Given the description of an element on the screen output the (x, y) to click on. 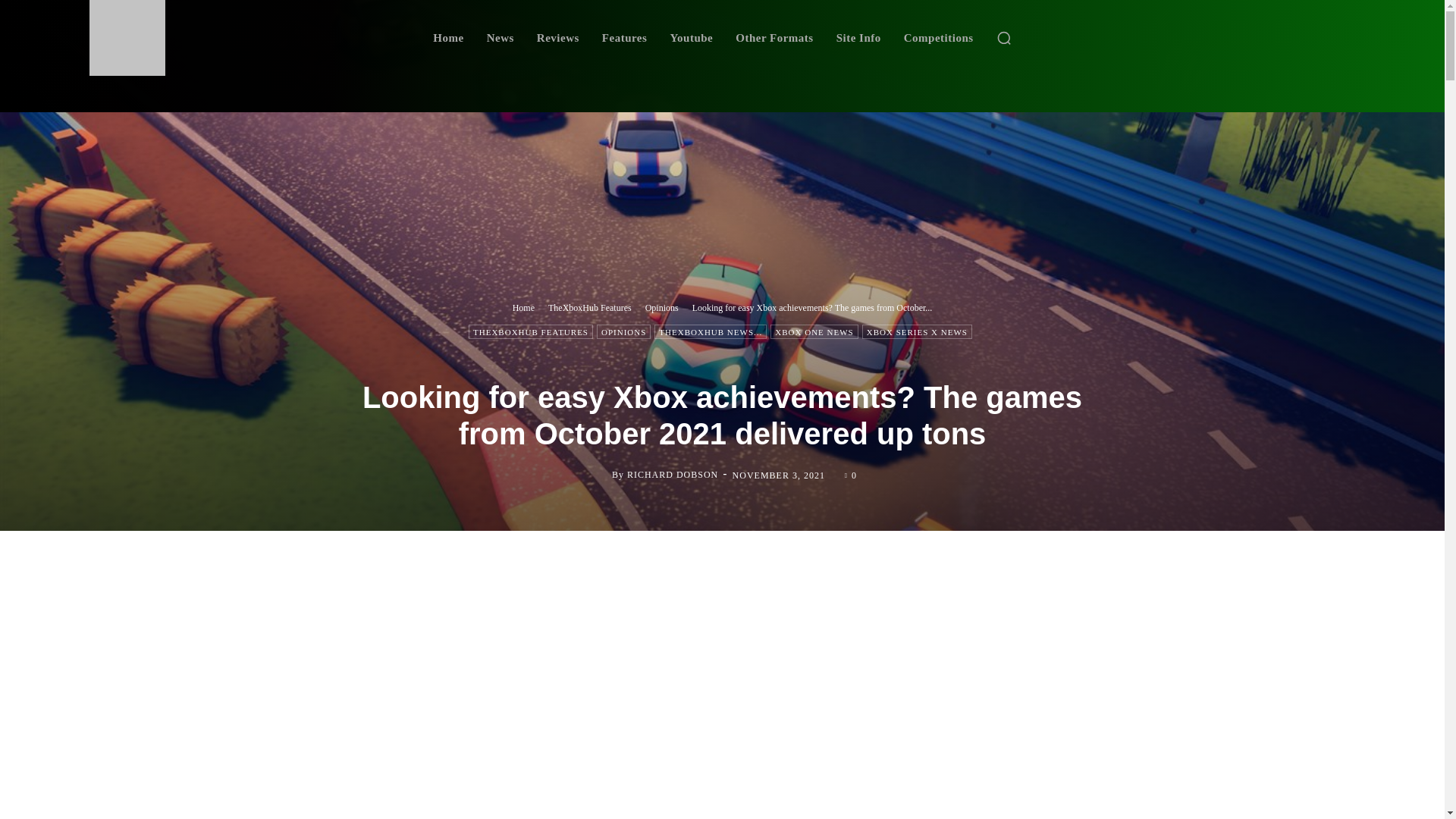
View all posts in Opinions (661, 307)
Richard Dobson (599, 474)
View all posts in TheXboxHub Features (589, 307)
